Given the description of an element on the screen output the (x, y) to click on. 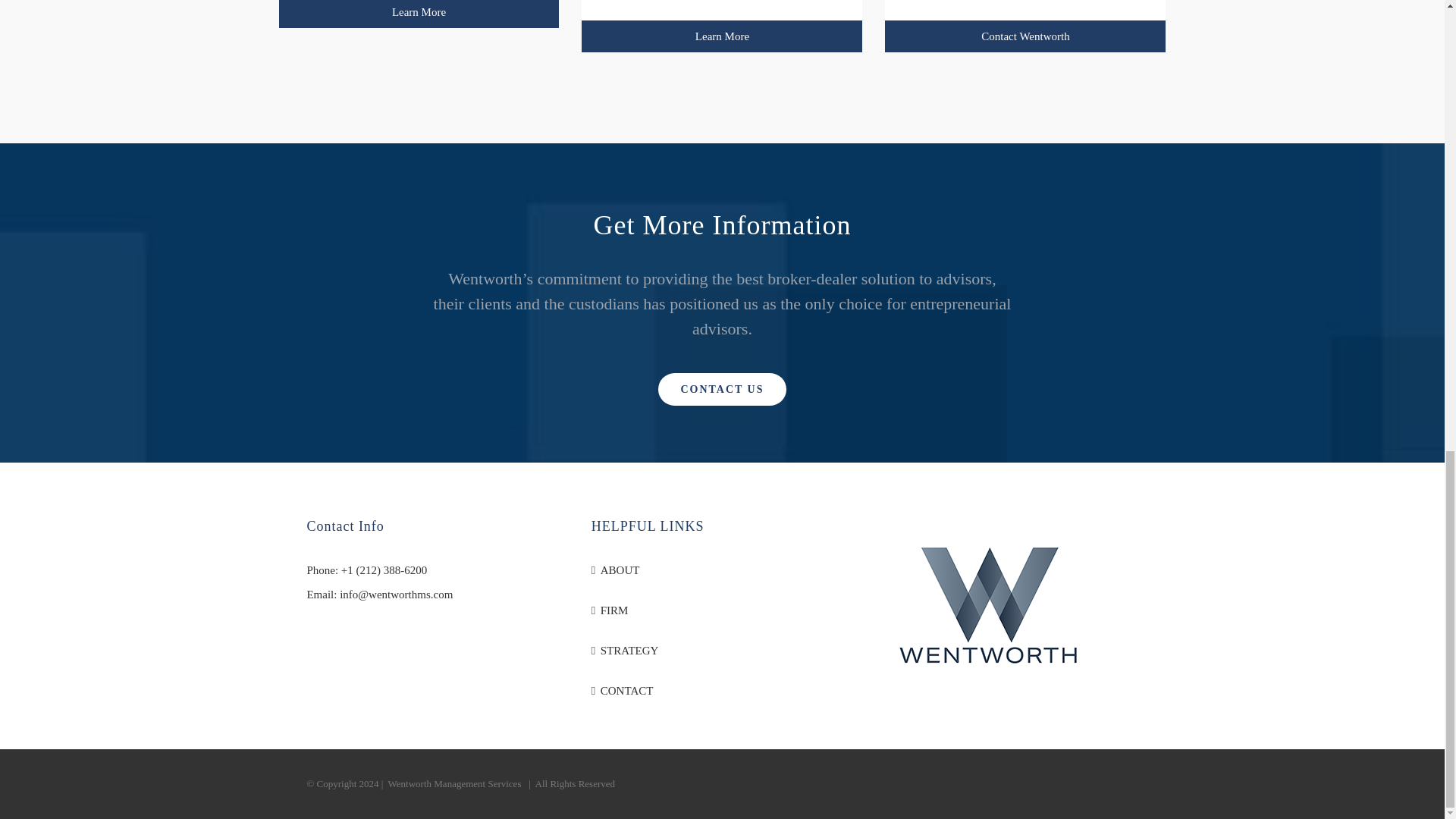
CONTACT US (722, 389)
FIRM (722, 610)
ABOUT (722, 569)
Contact Wentworth (1025, 36)
Learn More (720, 36)
Learn More (419, 13)
